Given the description of an element on the screen output the (x, y) to click on. 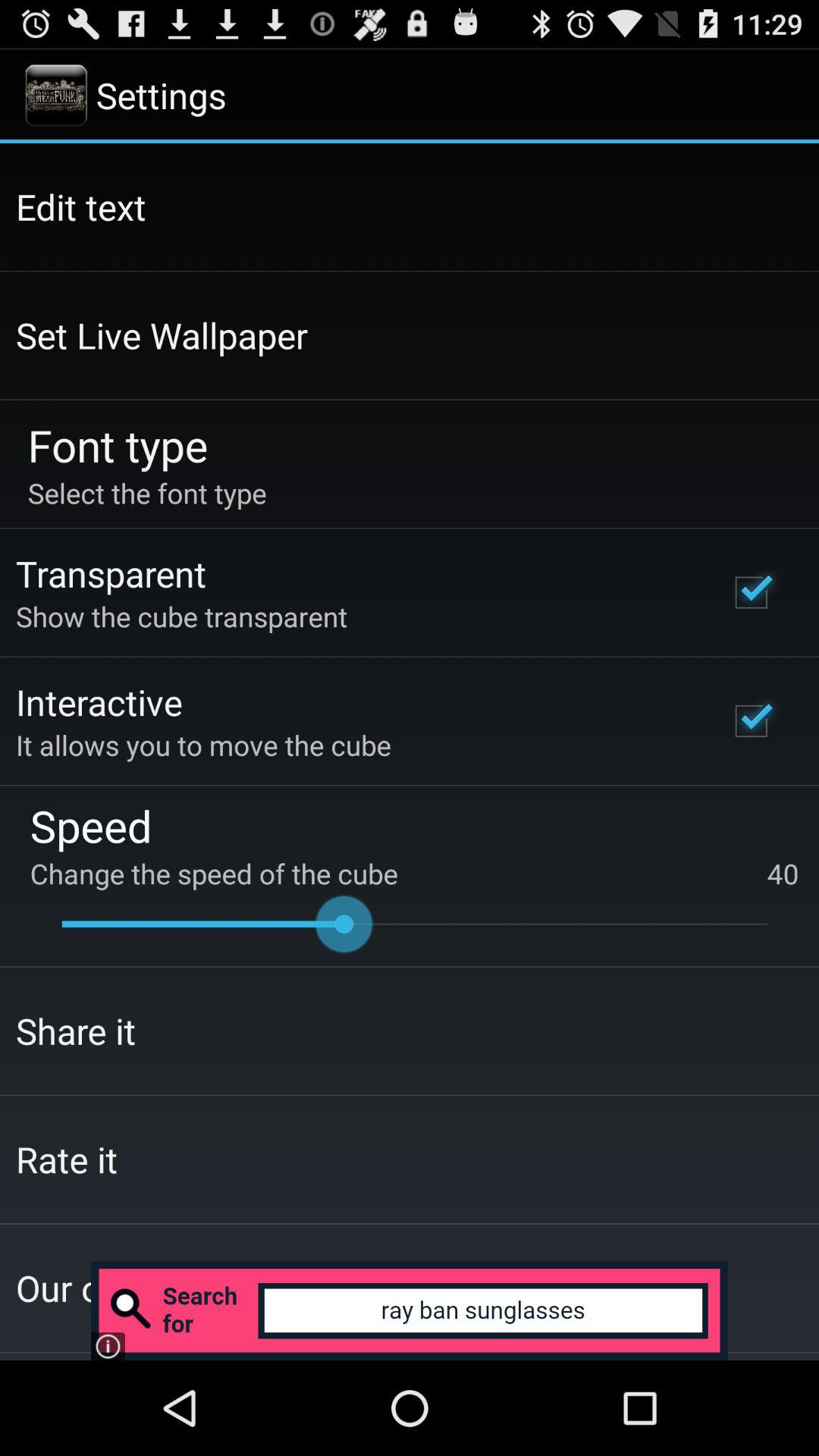
flip to the edit text app (80, 206)
